Given the description of an element on the screen output the (x, y) to click on. 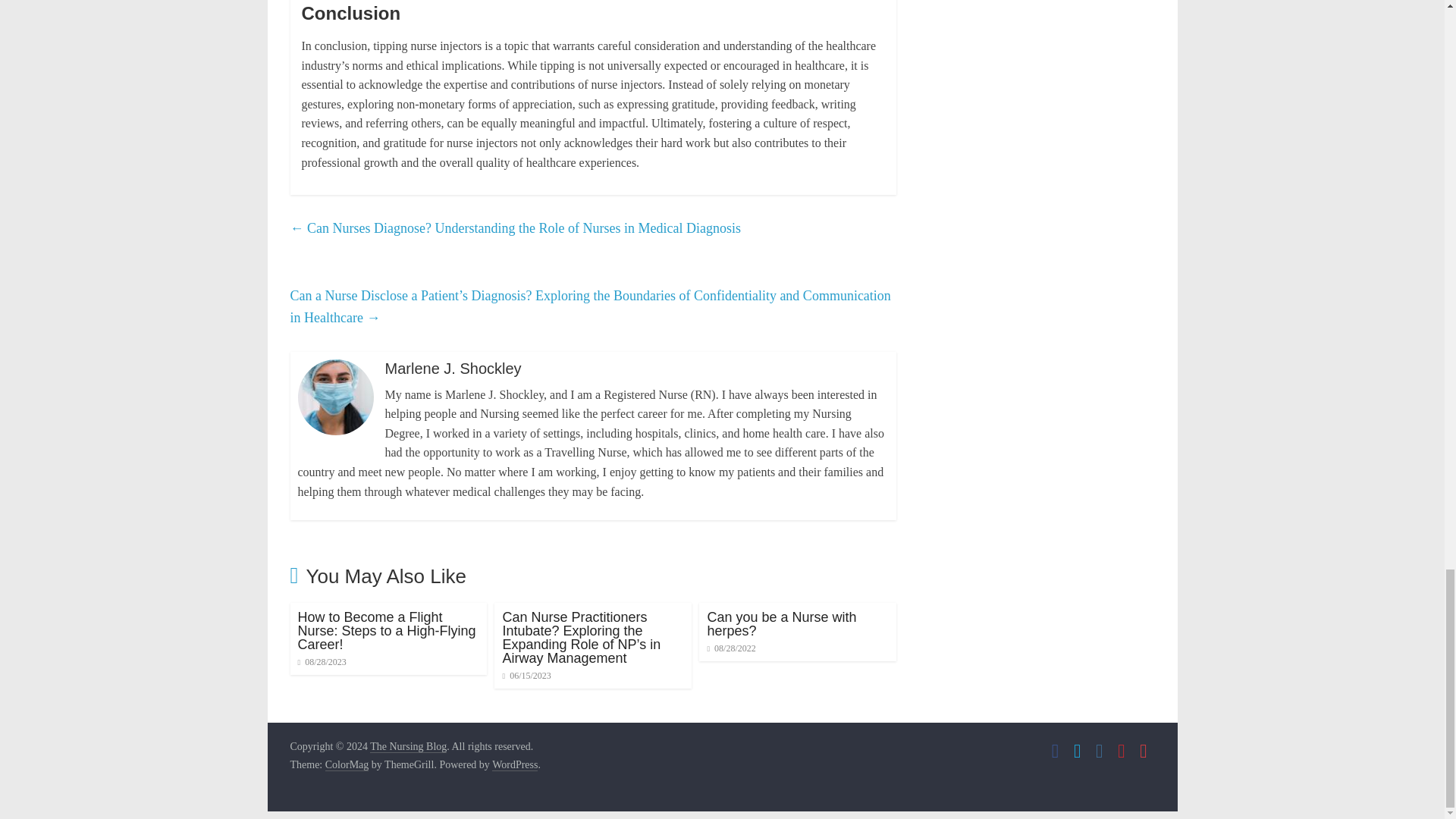
How to Become a Flight Nurse: Steps to a High-Flying Career! (386, 630)
4:27 AM (526, 675)
How to Become a Flight Nurse: Steps to a High-Flying Career! (386, 630)
Can you be a Nurse with herpes? (781, 623)
Can you be a Nurse with herpes? (781, 623)
12:00 AM (321, 661)
9:34 PM (730, 647)
